Given the description of an element on the screen output the (x, y) to click on. 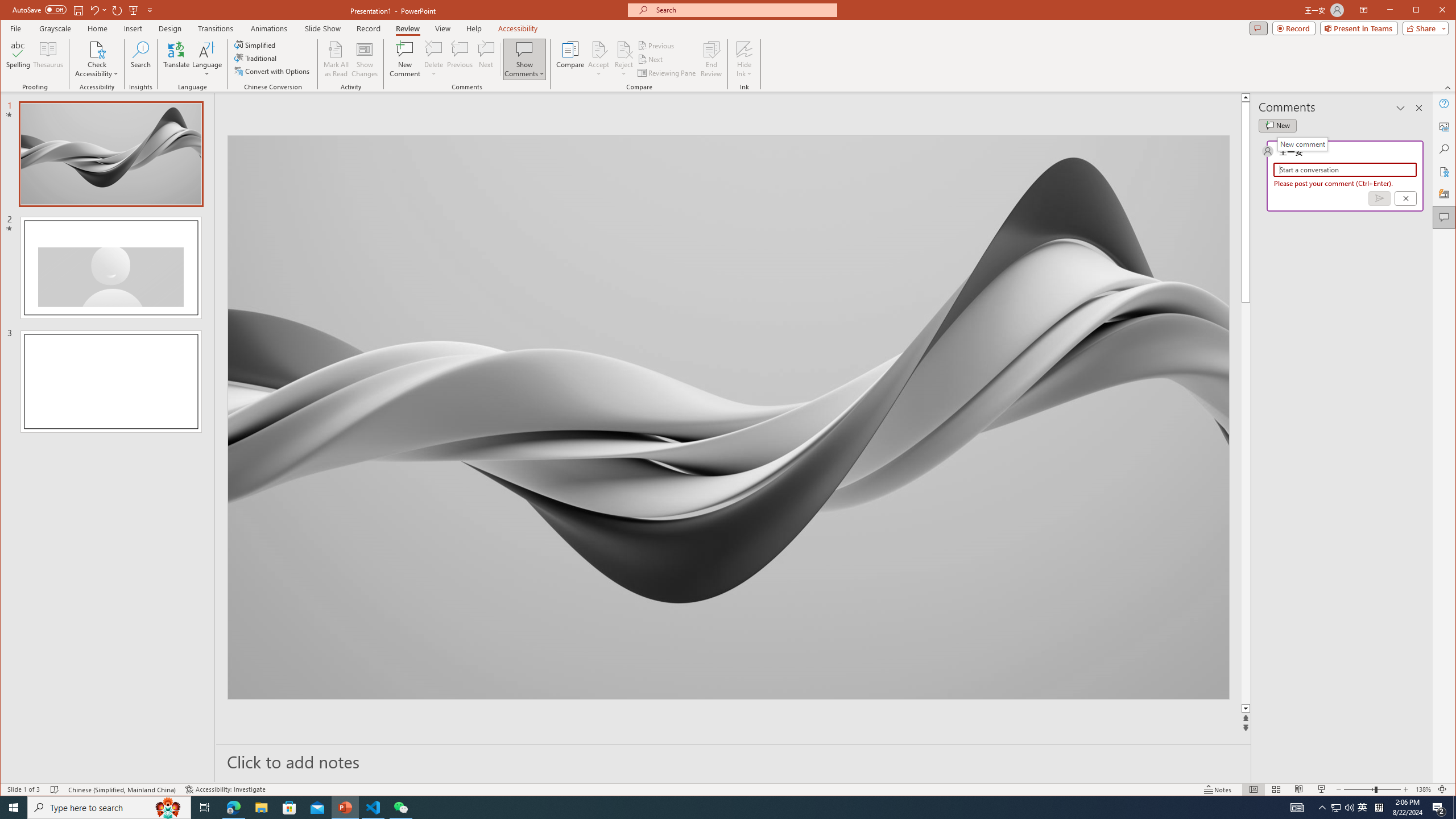
Reading View (1298, 789)
Traditional (256, 57)
Show desktop (1454, 807)
Zoom Out (1358, 789)
Microsoft Edge - 1 running window (233, 807)
Hide Ink (744, 59)
Q2790: 100% (1349, 807)
User Promoted Notification Area (1342, 807)
Design (170, 28)
Spell Check No Errors (55, 789)
More Options (744, 69)
AutomationID: 4105 (1297, 807)
